Given the description of an element on the screen output the (x, y) to click on. 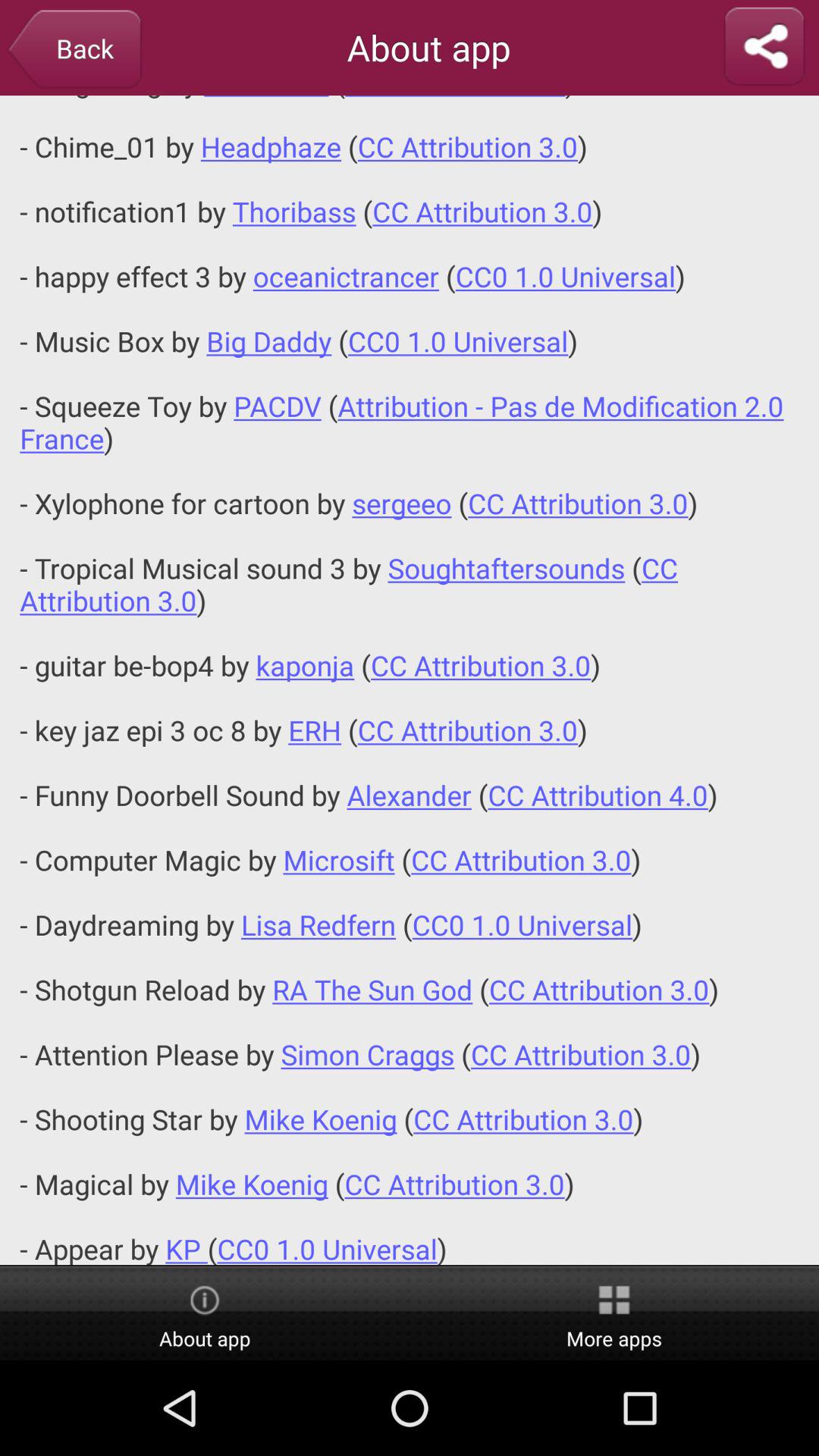
click the desk bell sound icon (409, 679)
